Given the description of an element on the screen output the (x, y) to click on. 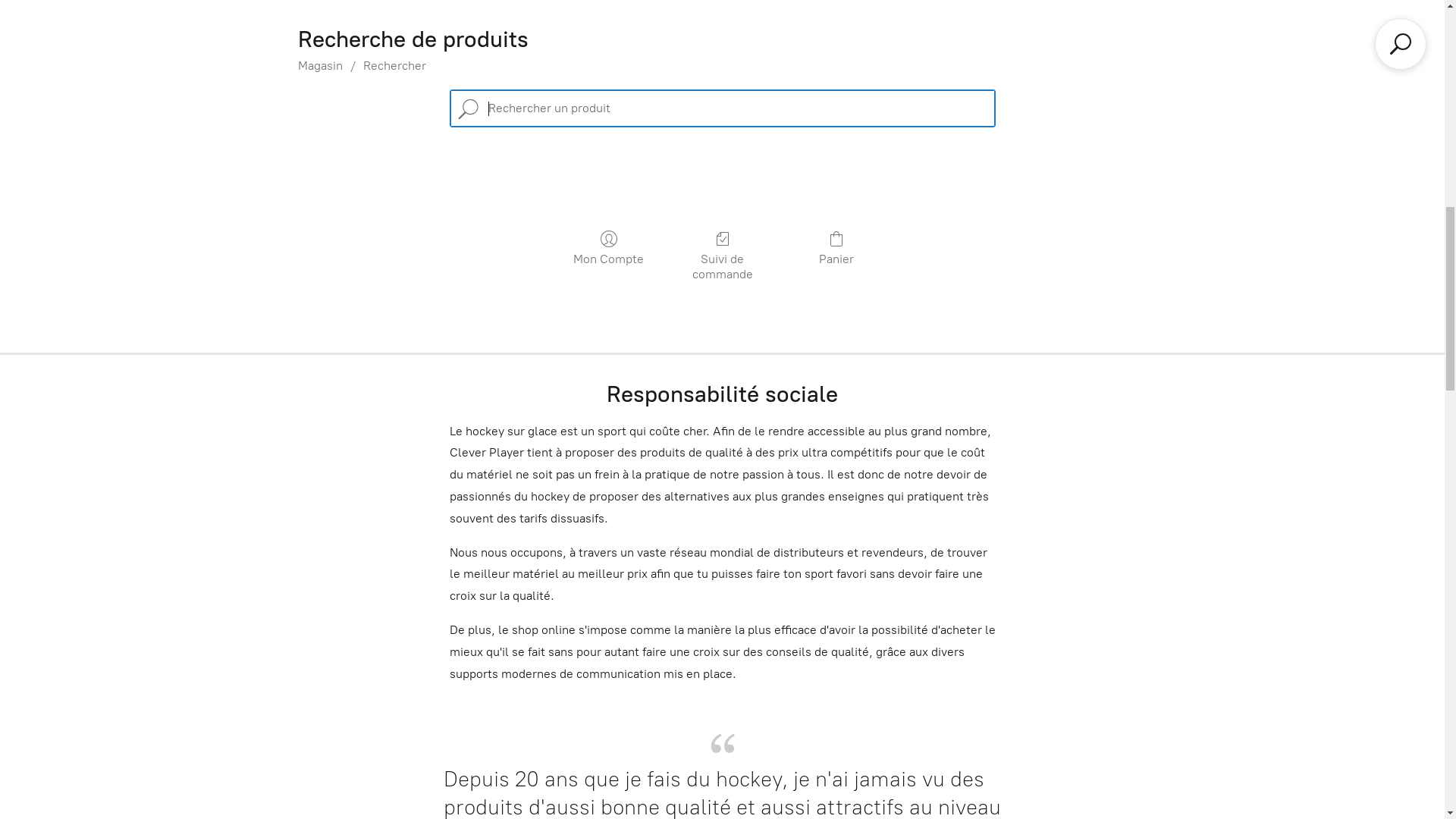
Obtenir des orientations Element type: text (1259, 28)
Acheter maintenant Element type: text (721, 653)
Les articles Element type: text (722, 762)
